Given the description of an element on the screen output the (x, y) to click on. 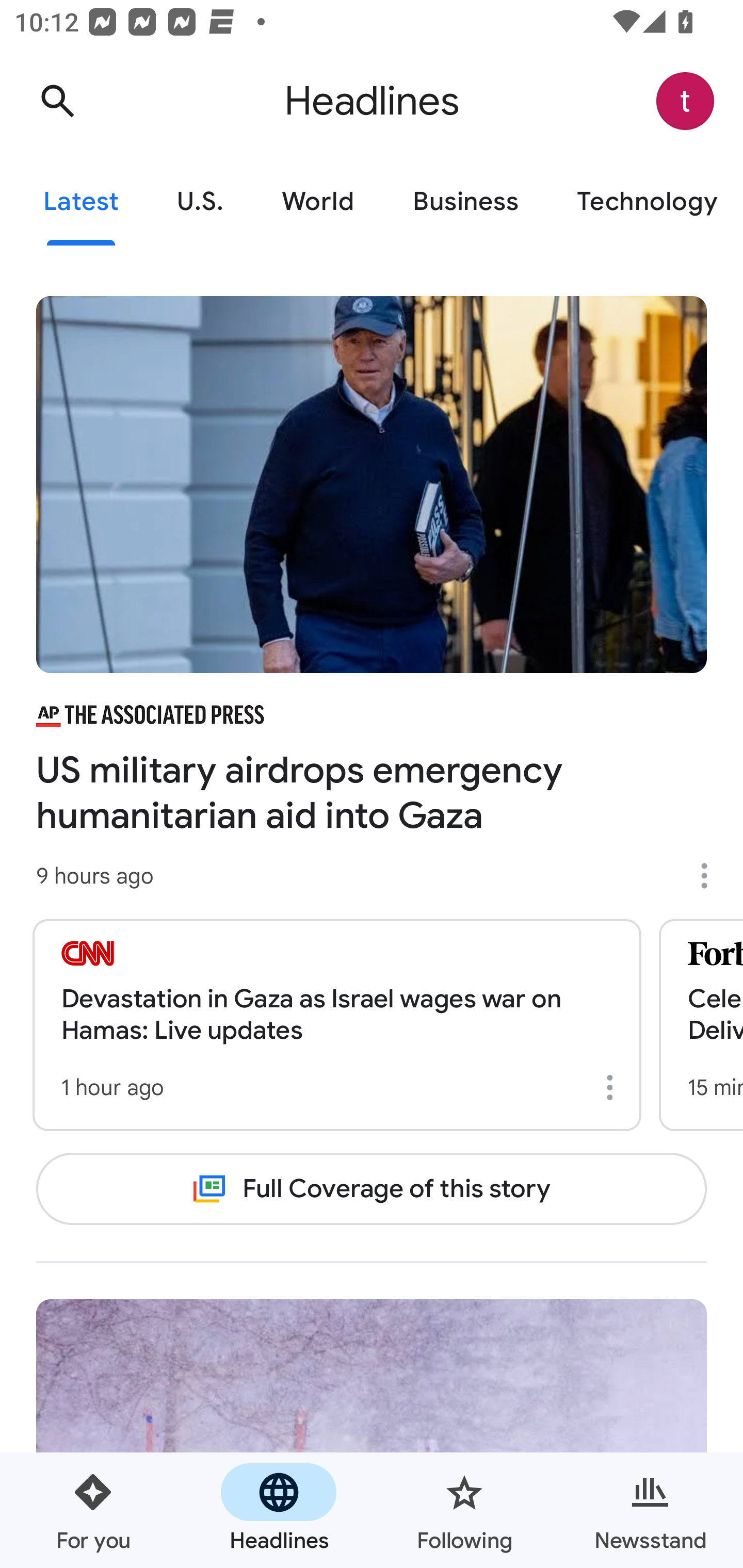
Search (57, 100)
U.S. (199, 202)
World (317, 202)
Business (465, 202)
Technology (645, 202)
More options (711, 875)
More options (613, 1086)
Full Coverage of this story (371, 1188)
For you (92, 1509)
Headlines (278, 1509)
Following (464, 1509)
Newsstand (650, 1509)
